Given the description of an element on the screen output the (x, y) to click on. 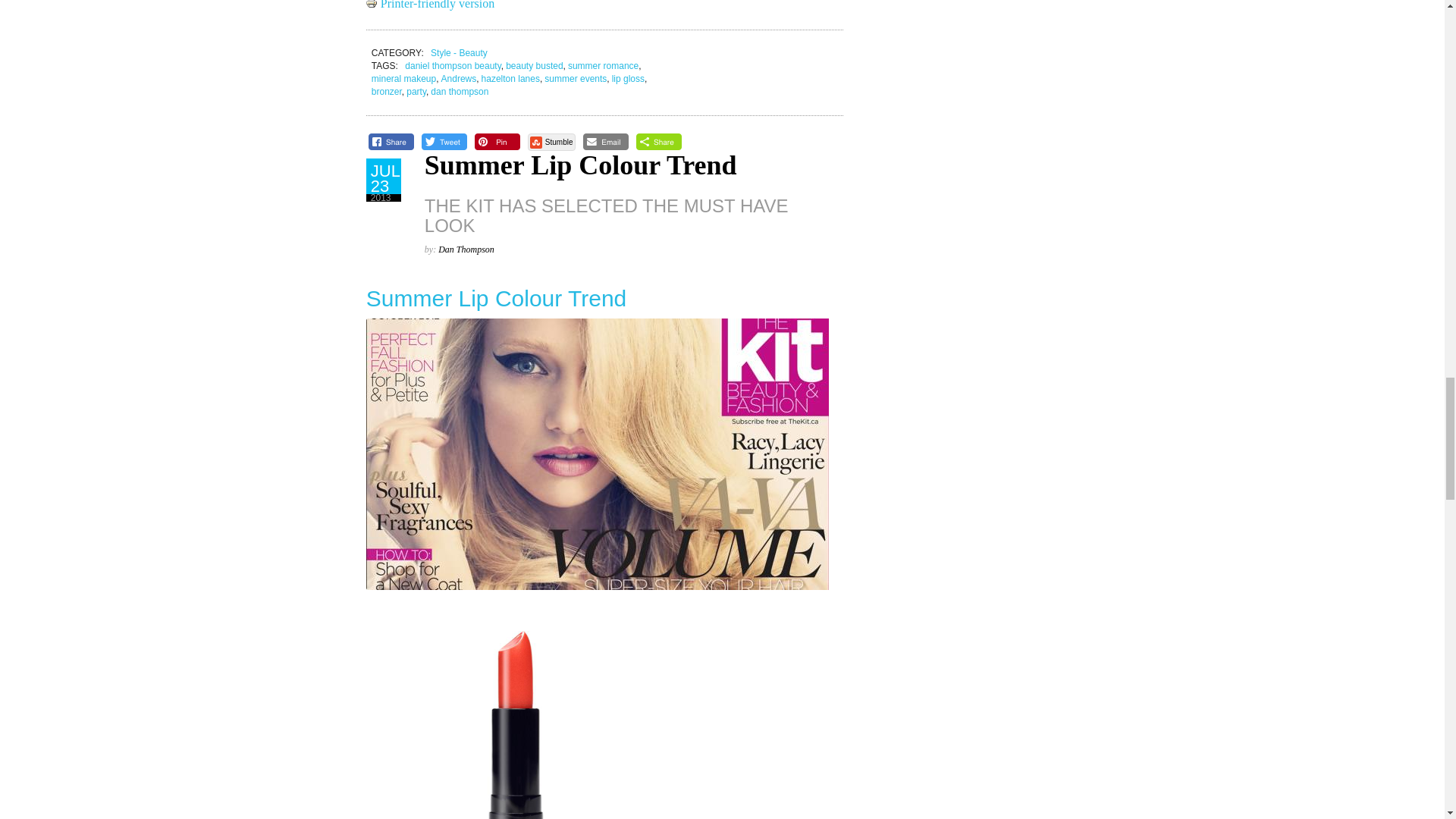
Display a printer-friendly version of this page. (430, 4)
